Given the description of an element on the screen output the (x, y) to click on. 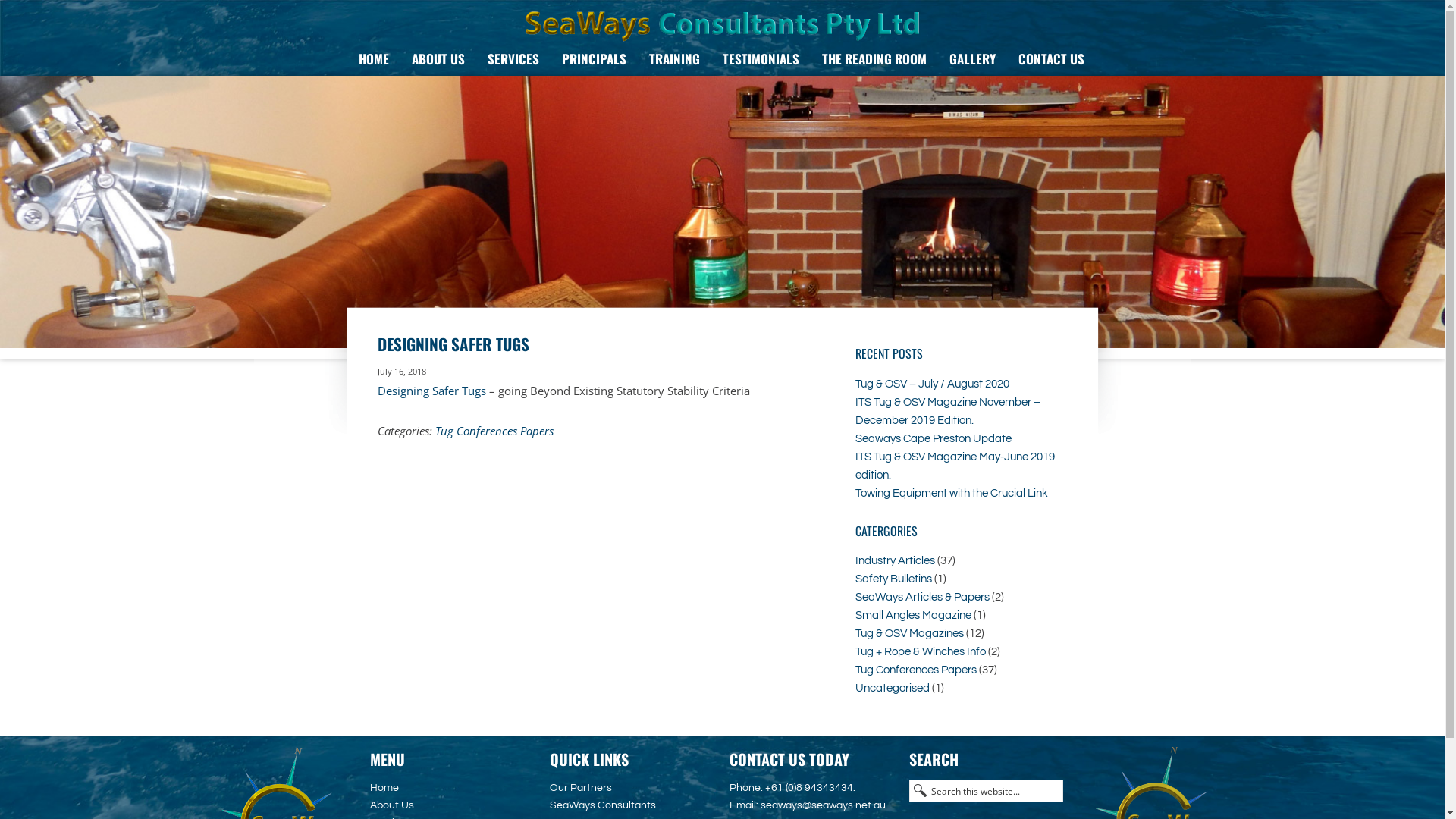
Designing Safer Tugs Element type: text (431, 390)
THE READING ROOM Element type: text (873, 58)
SeaWays Consultants Element type: text (602, 805)
Seaways Cape Preston Update Element type: text (933, 438)
Industry Articles Element type: text (895, 560)
ITS Tug & OSV Magazine May-June 2019 edition. Element type: text (954, 465)
Tug Conferences Papers Element type: text (915, 669)
Small Angles Magazine Element type: text (913, 615)
TRAINING Element type: text (673, 58)
Uncategorised Element type: text (892, 687)
SERVICES Element type: text (513, 58)
Tug + Rope & Winches Info Element type: text (920, 651)
PRINCIPALS Element type: text (593, 58)
Tug & OSV Magazines Element type: text (909, 633)
Tug Conferences Papers Element type: text (494, 430)
CONTACT US Element type: text (1051, 58)
TESTIMONIALS Element type: text (760, 58)
GALLERY Element type: text (971, 58)
Our Partners Element type: text (580, 787)
ABOUT US Element type: text (438, 58)
Safety Bulletins Element type: text (893, 578)
About Us Element type: text (392, 805)
SeaWays Consultants Element type: text (722, 26)
Towing Equipment with the Crucial Link Element type: text (951, 492)
SeaWays Articles & Papers Element type: text (922, 596)
Home Element type: text (384, 787)
HOME Element type: text (373, 58)
seaways@seaways.net.au Element type: text (822, 805)
